Given the description of an element on the screen output the (x, y) to click on. 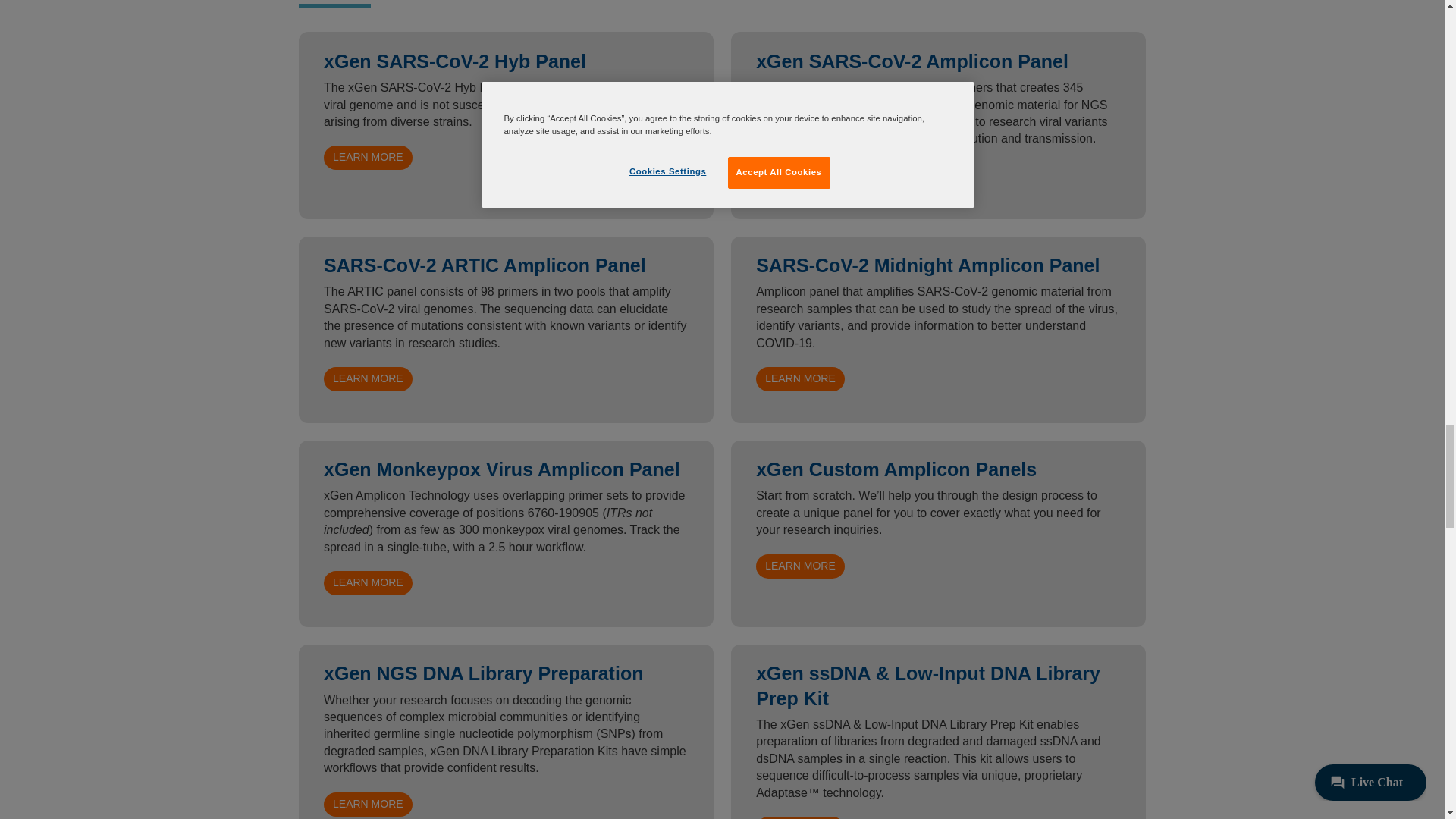
xGen SARS-CoV-2 Hyb Panel (367, 157)
